Given the description of an element on the screen output the (x, y) to click on. 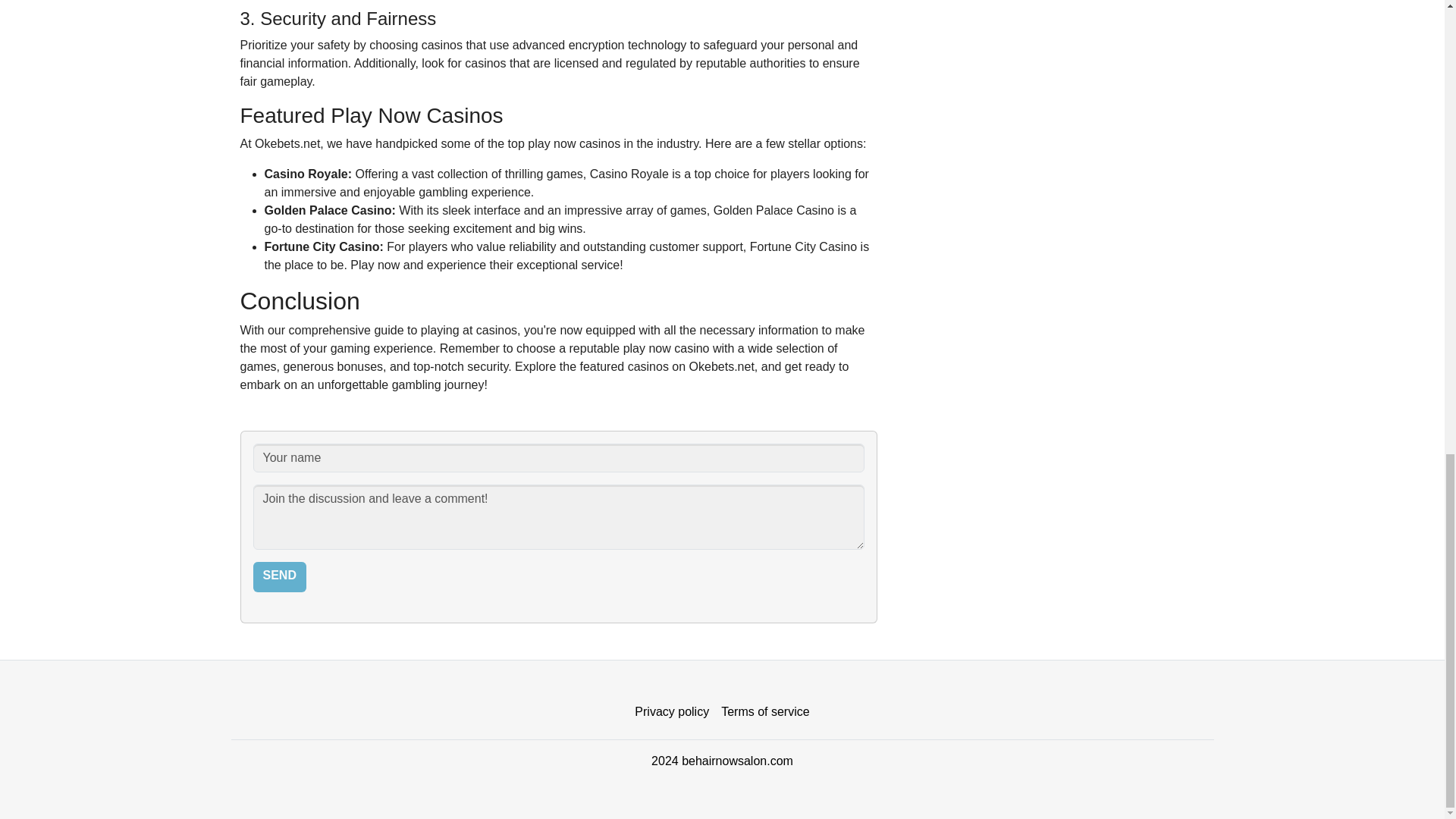
Terms of service (764, 711)
Send (279, 576)
Send (279, 576)
Privacy policy (671, 711)
